Given the description of an element on the screen output the (x, y) to click on. 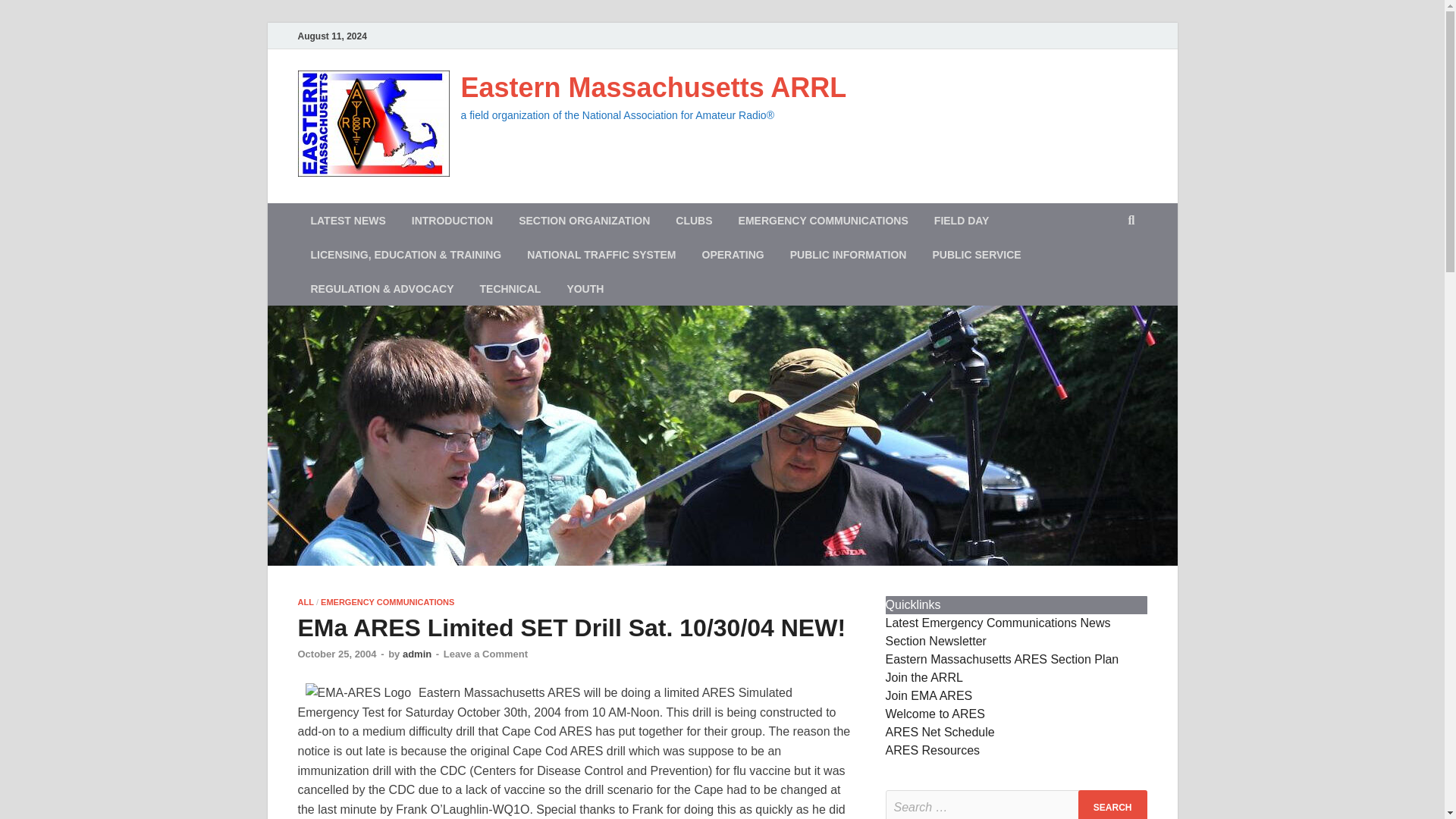
Section Newsletter (936, 640)
CLUBS (693, 220)
Eastern Massachusetts ARRL (654, 87)
PUBLIC INFORMATION (848, 254)
Search (1112, 804)
admin (416, 654)
ALL (305, 601)
PUBLIC SERVICE (975, 254)
October 25, 2004 (336, 654)
ARES Net Schedule (939, 731)
